Given the description of an element on the screen output the (x, y) to click on. 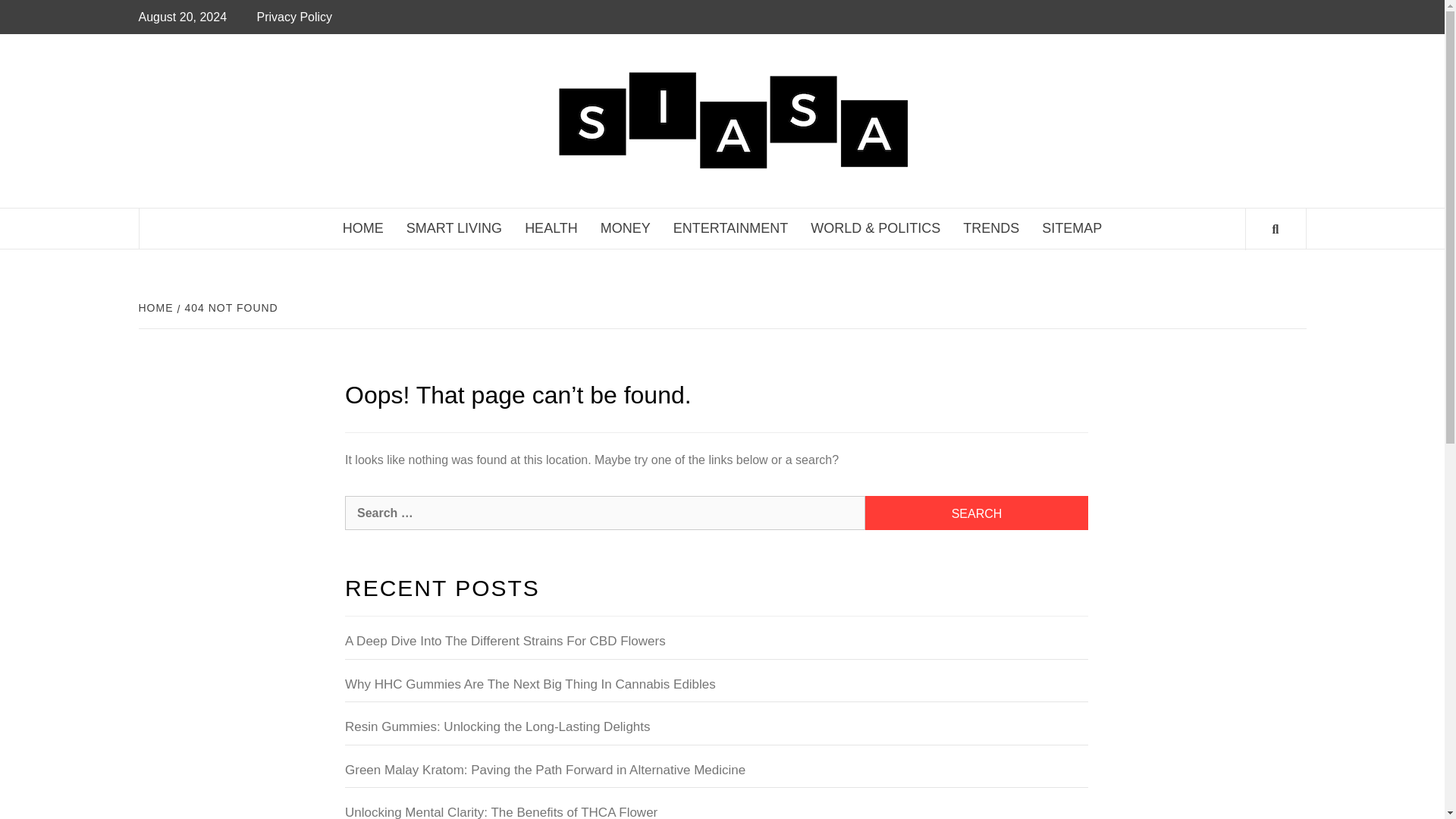
MONEY (625, 228)
Search (975, 512)
Search (975, 512)
ENTERTAINMENT (730, 228)
SAY IT AINT SO ALREADY (1114, 84)
HOME (157, 307)
Resin Gummies: Unlocking the Long-Lasting Delights (716, 731)
SITEMAP (1071, 228)
Why HHC Gummies Are The Next Big Thing In Cannabis Edibles (716, 688)
